Given the description of an element on the screen output the (x, y) to click on. 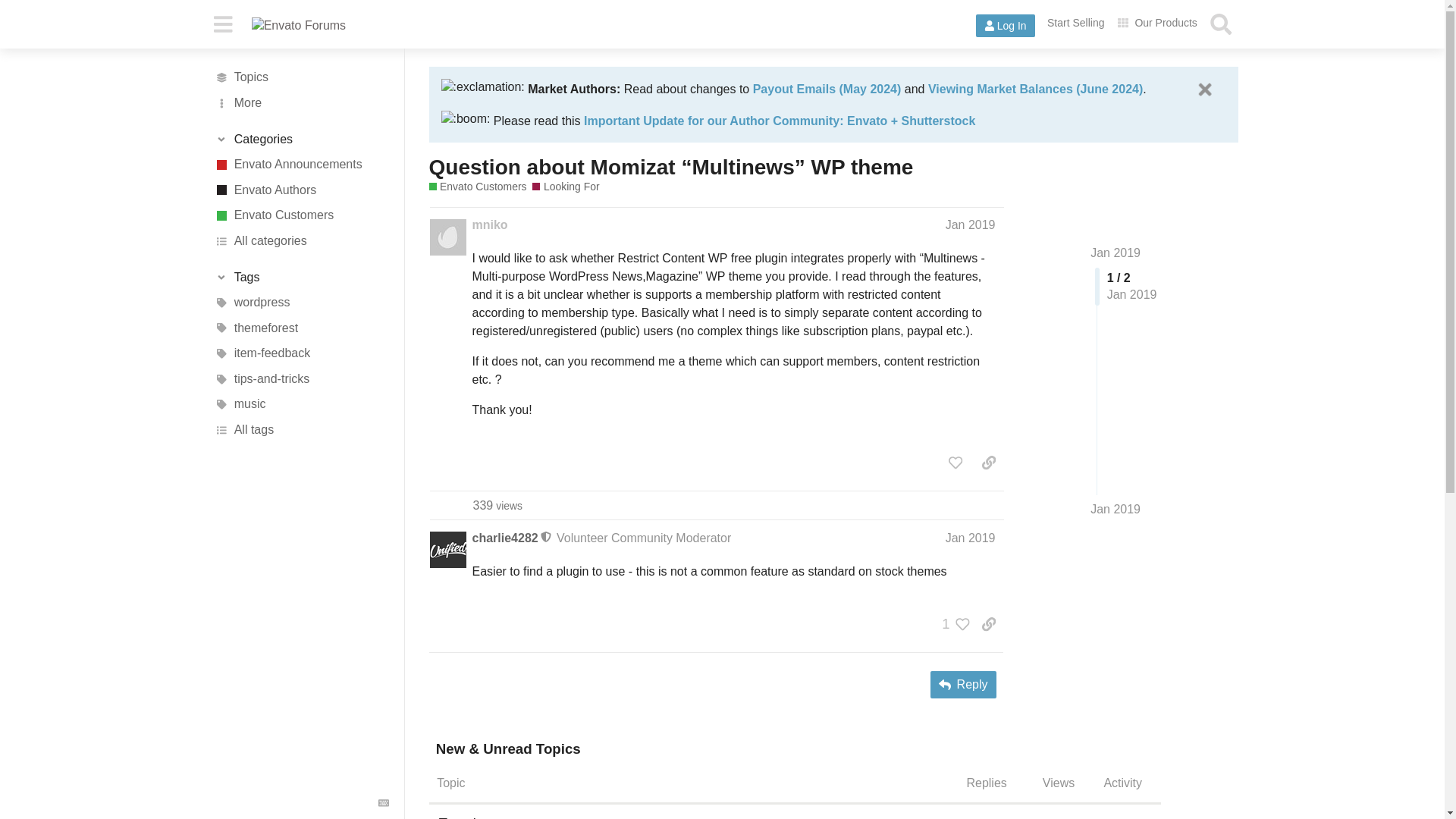
Envato Announcements (301, 164)
Envato Authors (301, 190)
Keyboard Shortcuts (384, 802)
Looking For (565, 186)
Jan 2019 (1115, 509)
Jan 2019 (1115, 252)
Envato Customers (478, 186)
Tags (301, 277)
mniko (488, 225)
Our Products (1157, 22)
